Given the description of an element on the screen output the (x, y) to click on. 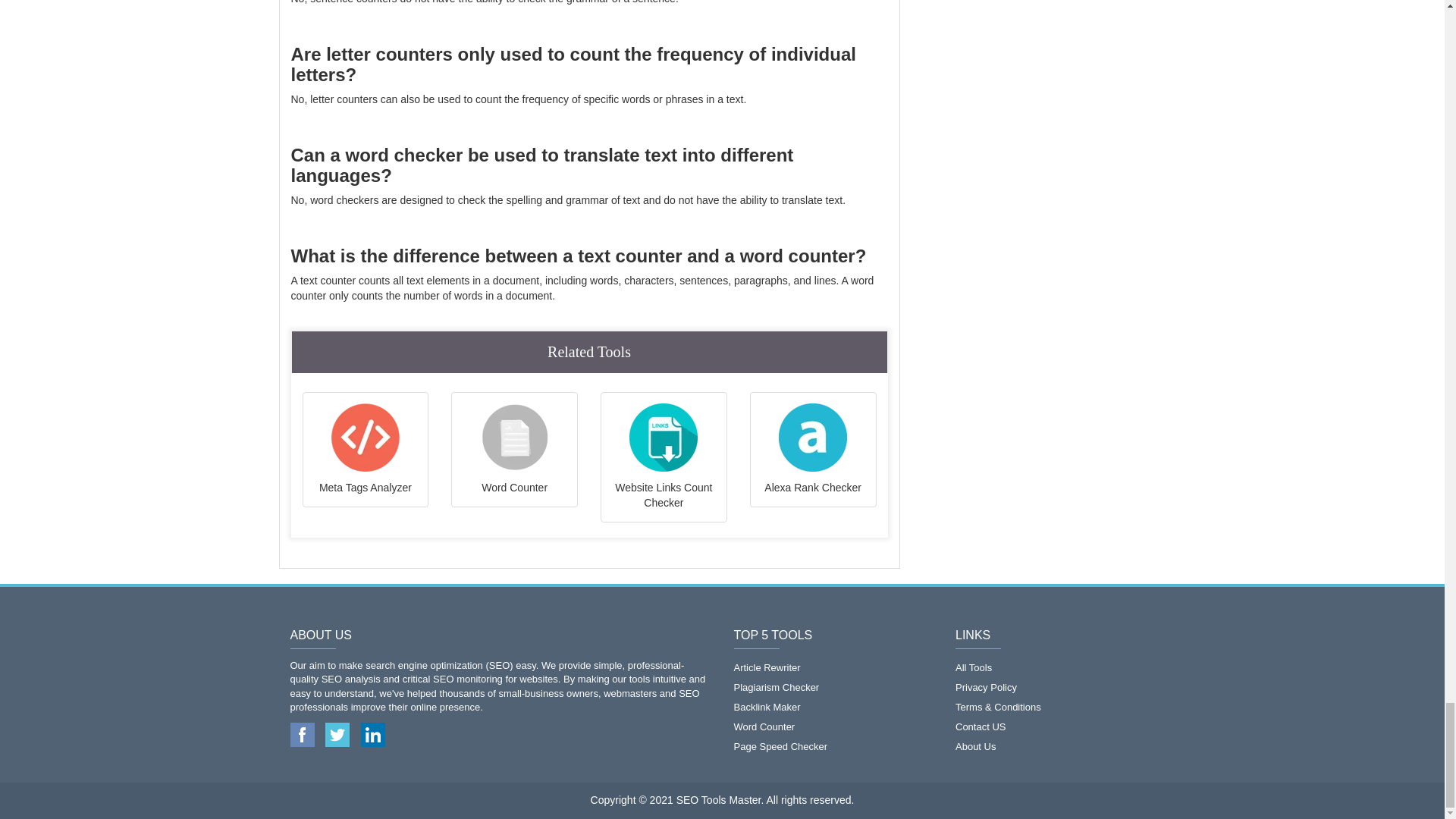
Alexa Rank Checker (813, 449)
All Tools (1054, 668)
Word Counter (833, 727)
Article Rewriter (833, 668)
Plagiarism Checker (833, 687)
Alexa Rank Checker (813, 449)
About Us (1054, 746)
Meta Tags Analyzer (365, 449)
Backlink Maker (833, 707)
Contact US (1054, 727)
Word Counter (513, 449)
Word Counter (513, 449)
Page Speed Checker (833, 746)
Privacy Policy (1054, 687)
Website Links Count Checker (663, 457)
